Given the description of an element on the screen output the (x, y) to click on. 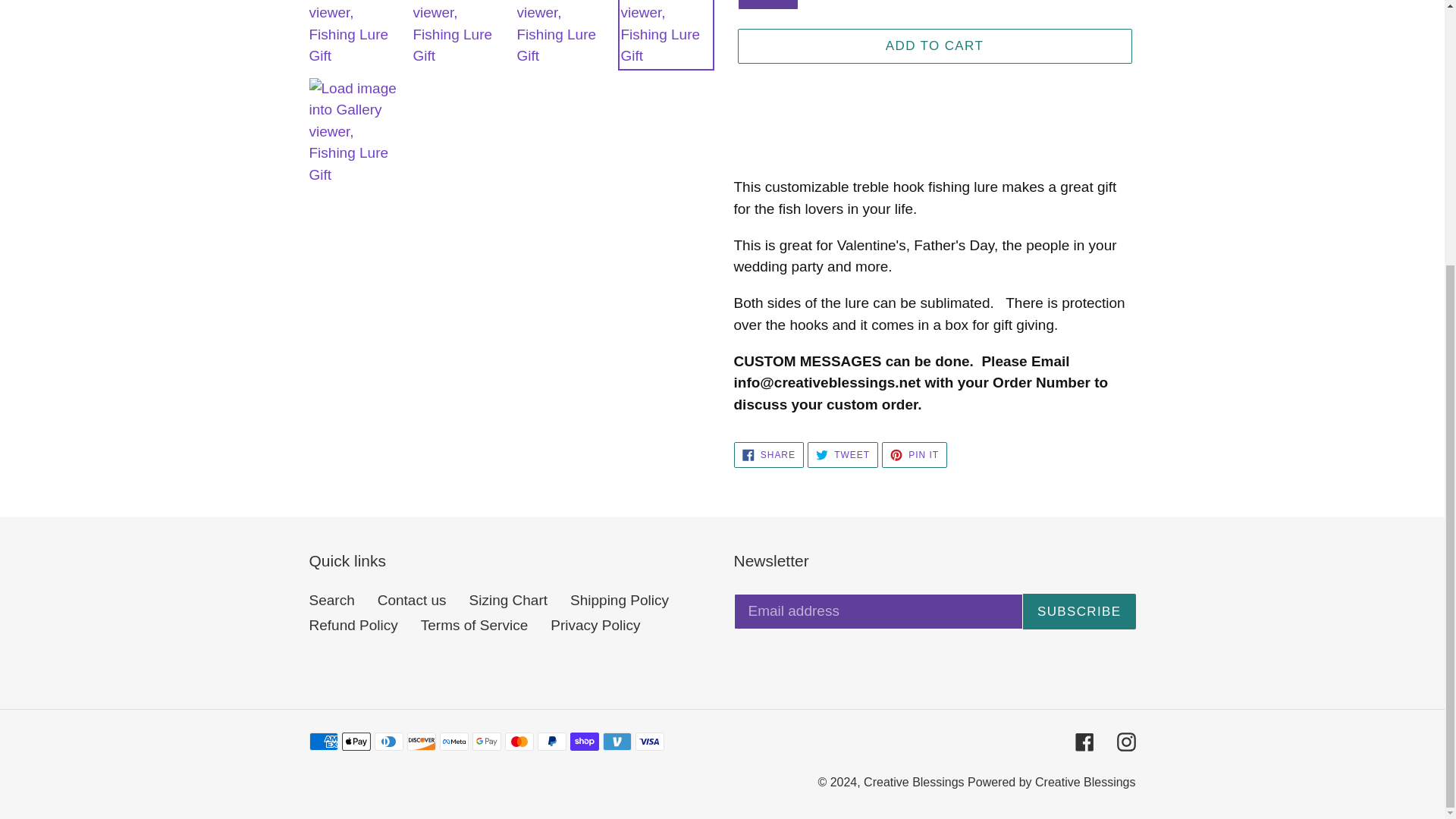
ADD TO CART (933, 45)
1 (766, 4)
